Given the description of an element on the screen output the (x, y) to click on. 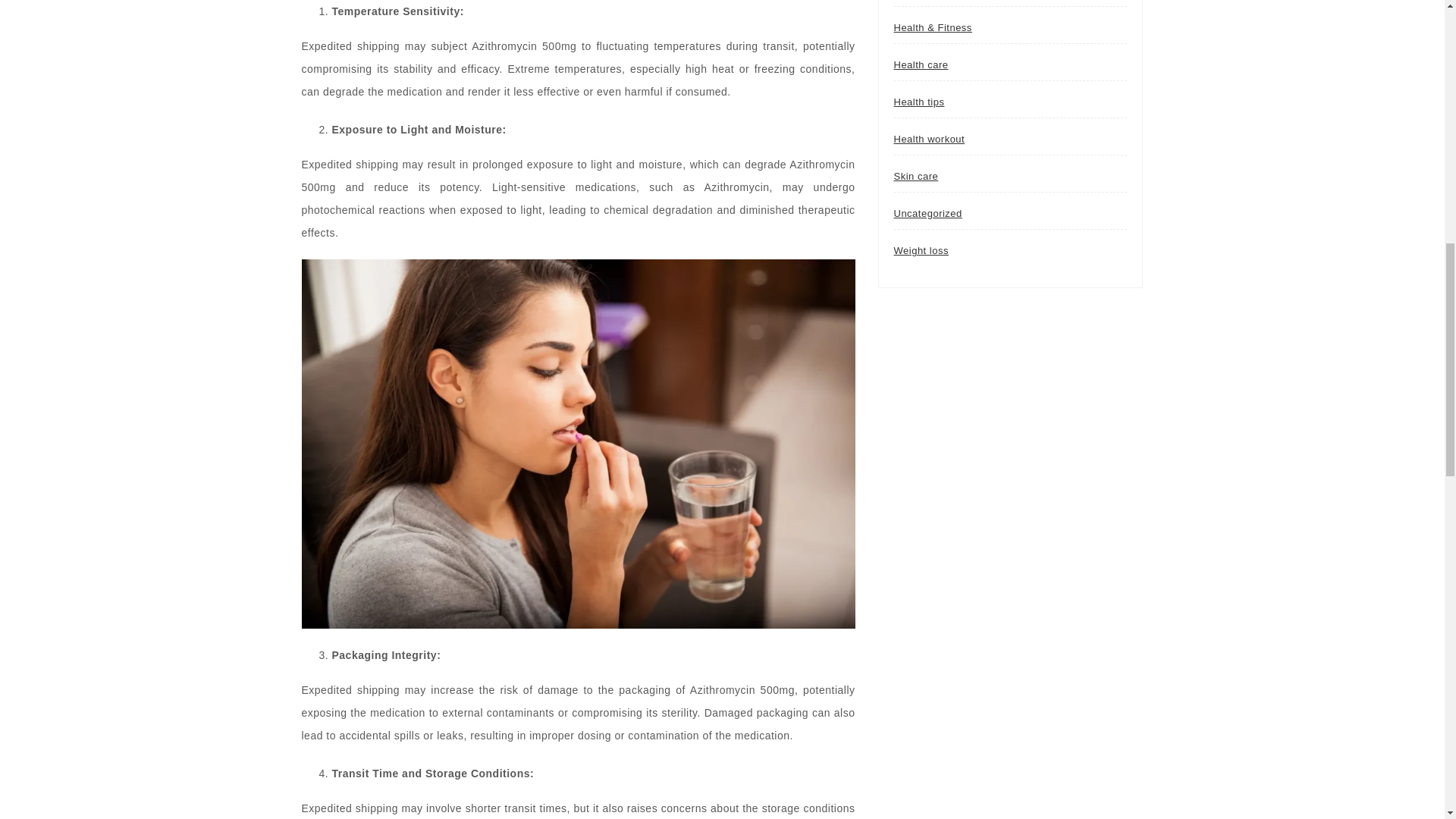
Uncategorized (926, 214)
Health workout (928, 139)
Weight loss (920, 250)
Skin care (915, 176)
Health tips (918, 101)
Health care (920, 64)
Health (908, 2)
